Given the description of an element on the screen output the (x, y) to click on. 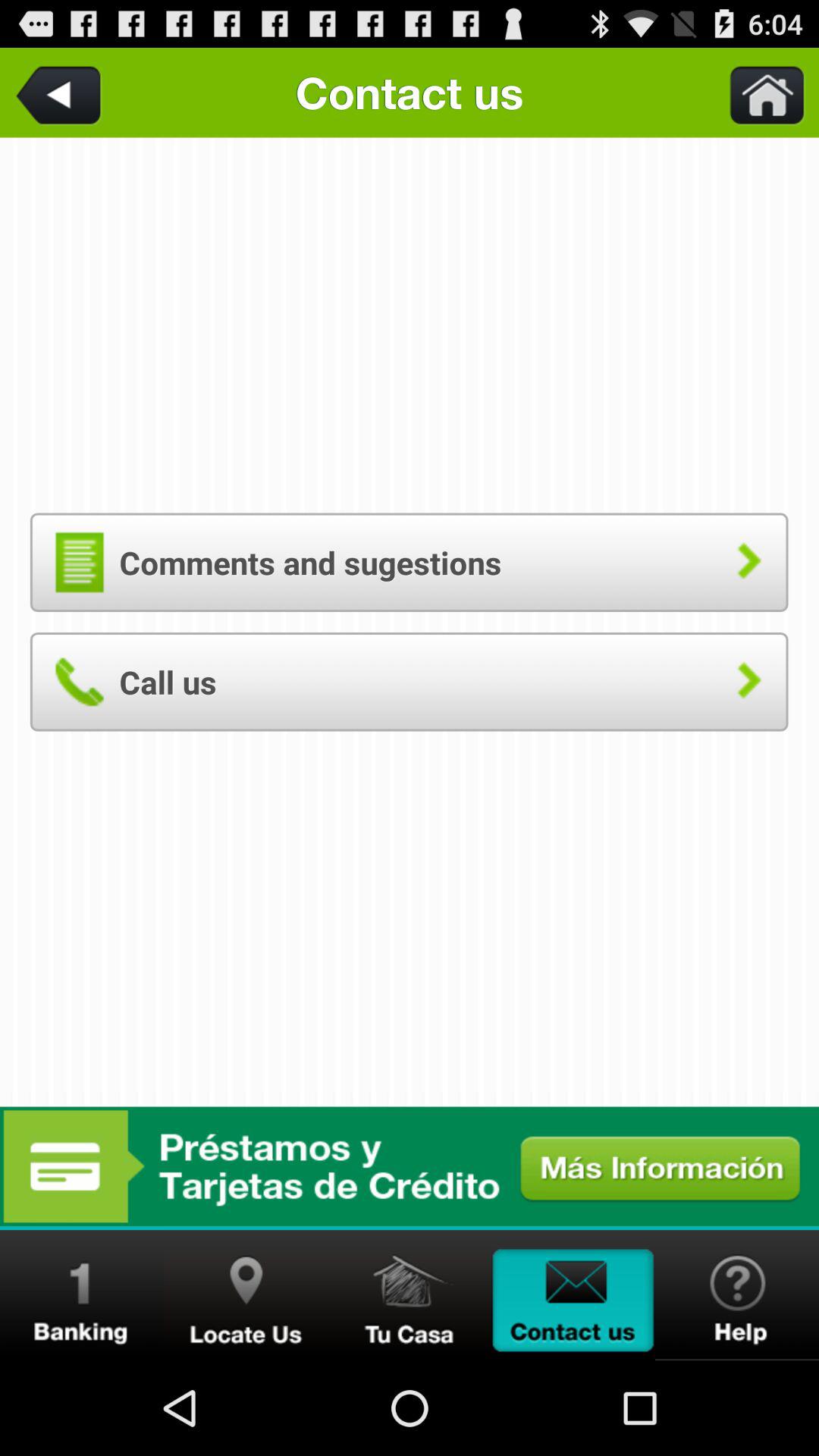
locate us (245, 1295)
